Given the description of an element on the screen output the (x, y) to click on. 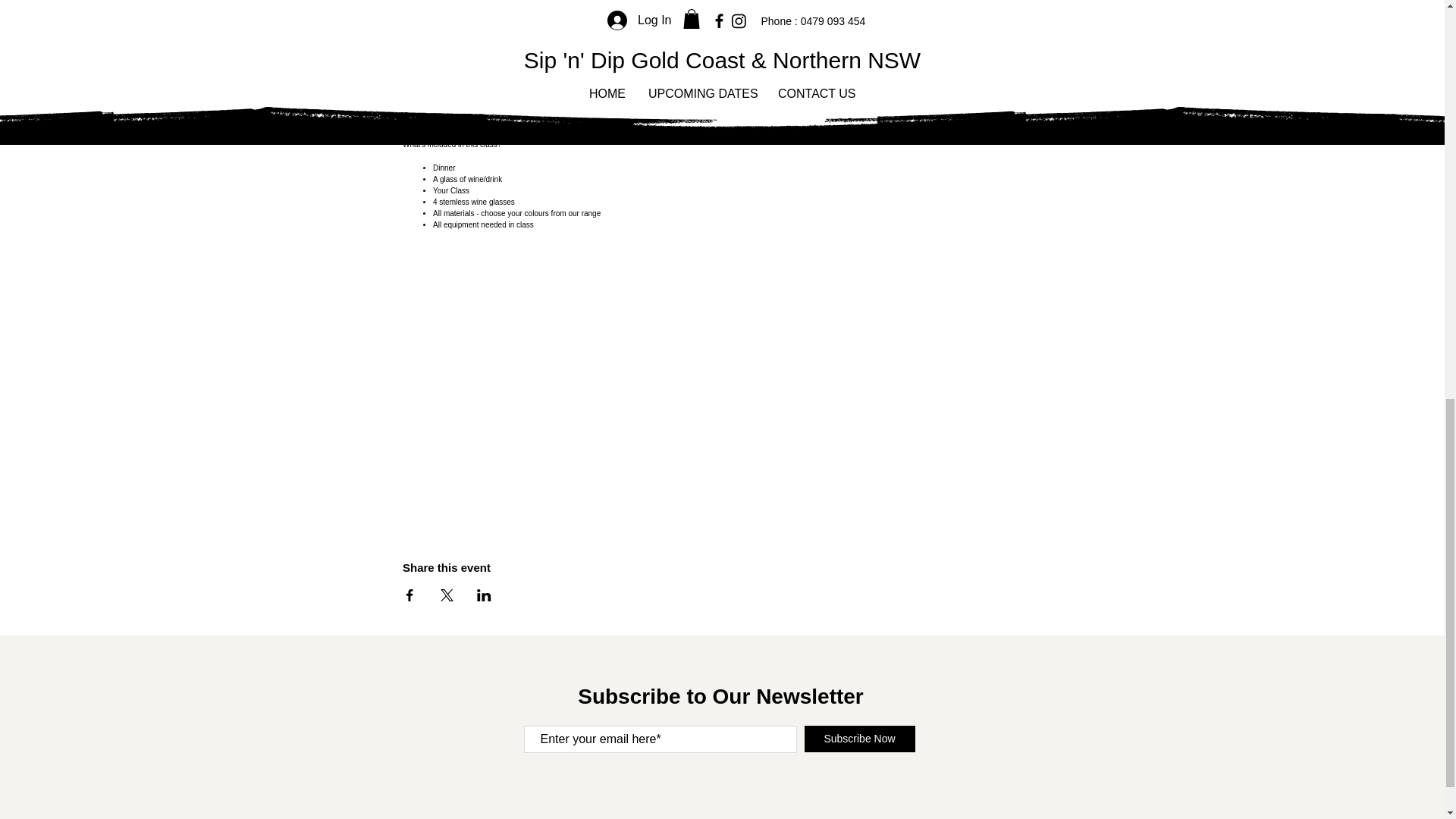
Subscribe Now (858, 738)
